Given the description of an element on the screen output the (x, y) to click on. 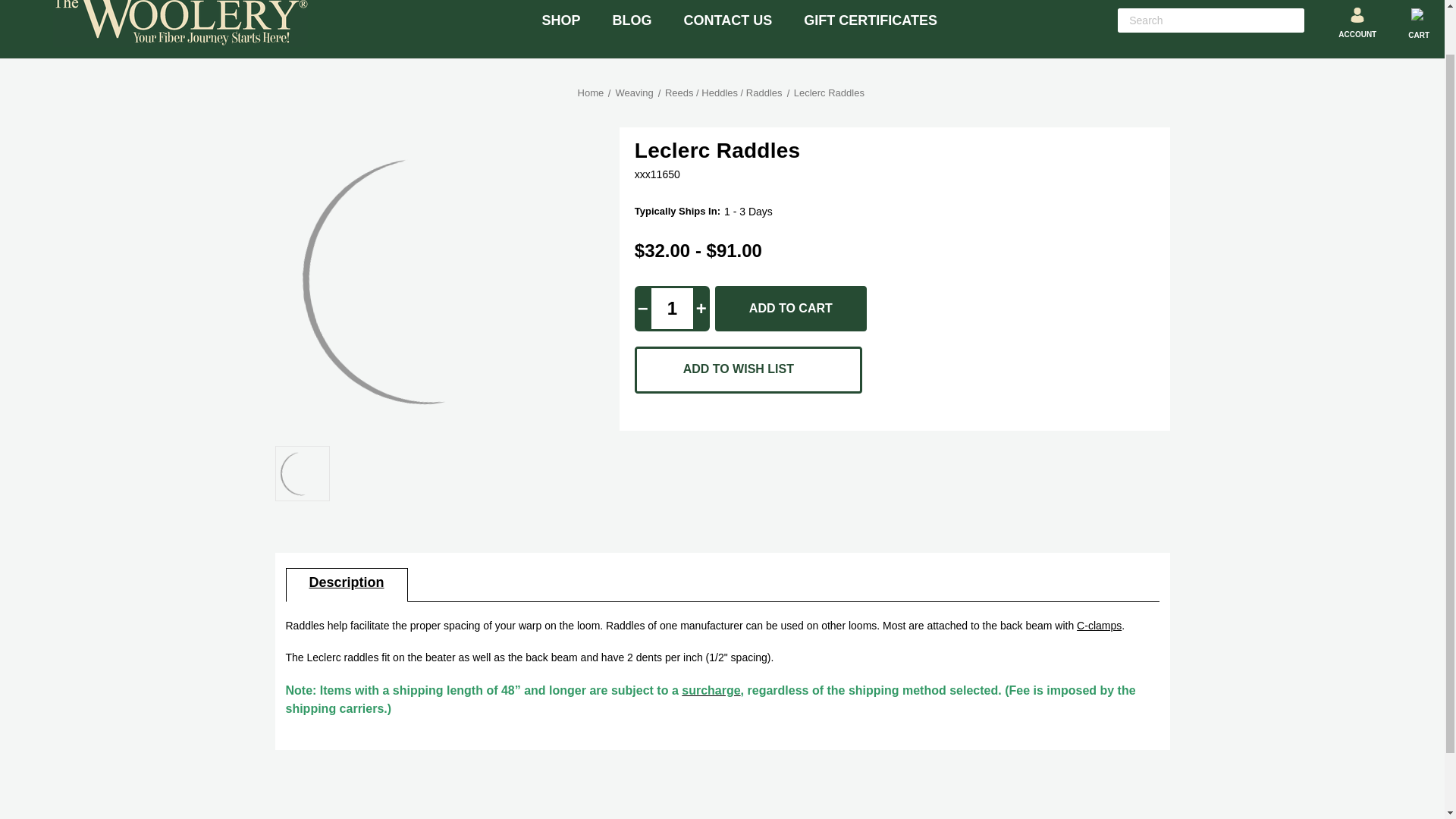
BLOG (632, 29)
GIFT CERTIFICATES (870, 29)
CONTACT US (728, 29)
Leclerc Raddles (427, 279)
SHOP (560, 29)
C-Clamp (1099, 625)
Shipping Surcharge (710, 689)
Leclerc Raddles (303, 473)
The Woolery (179, 23)
1 (671, 308)
